Given the description of an element on the screen output the (x, y) to click on. 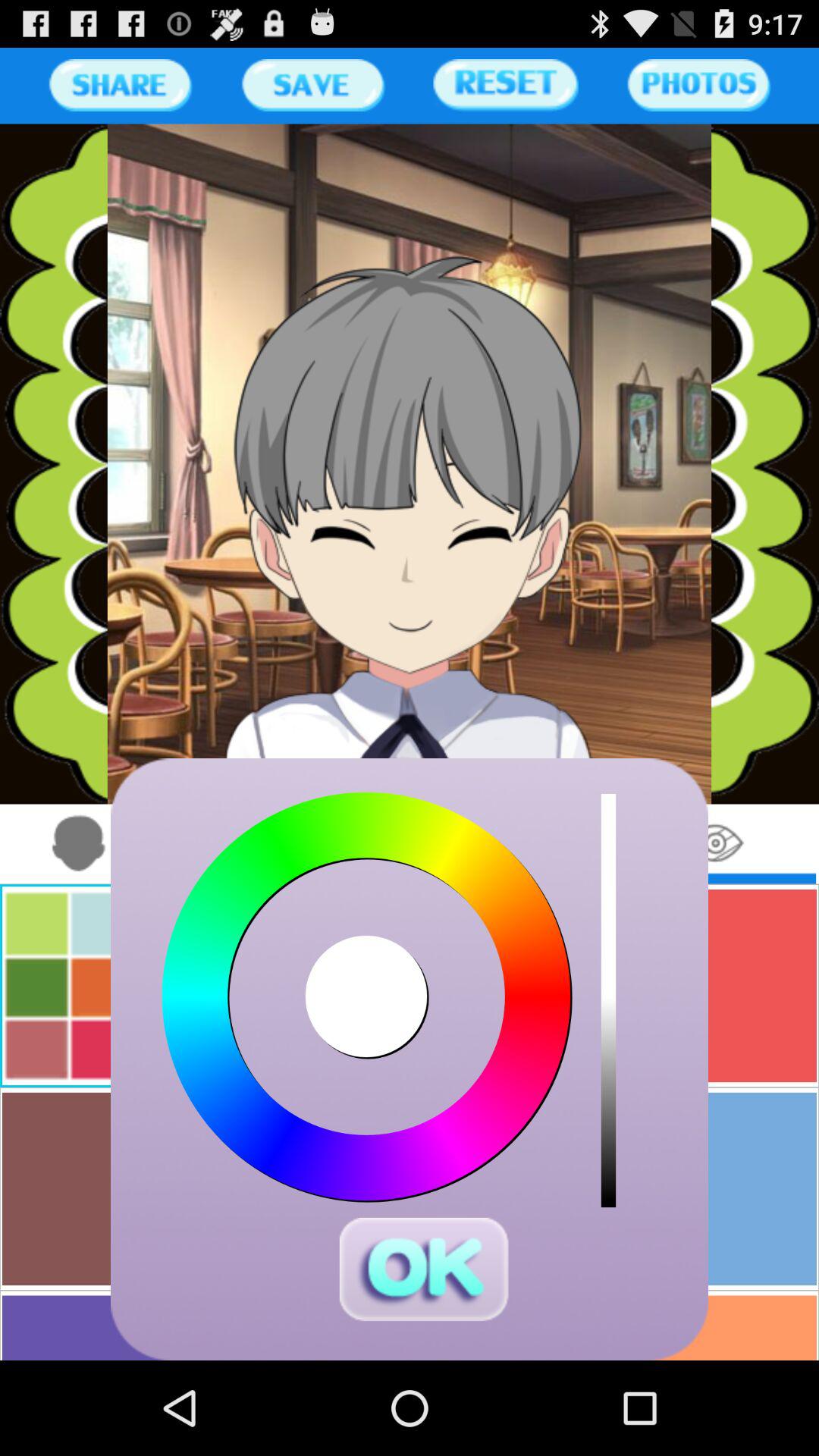
click ok button (423, 1269)
